Given the description of an element on the screen output the (x, y) to click on. 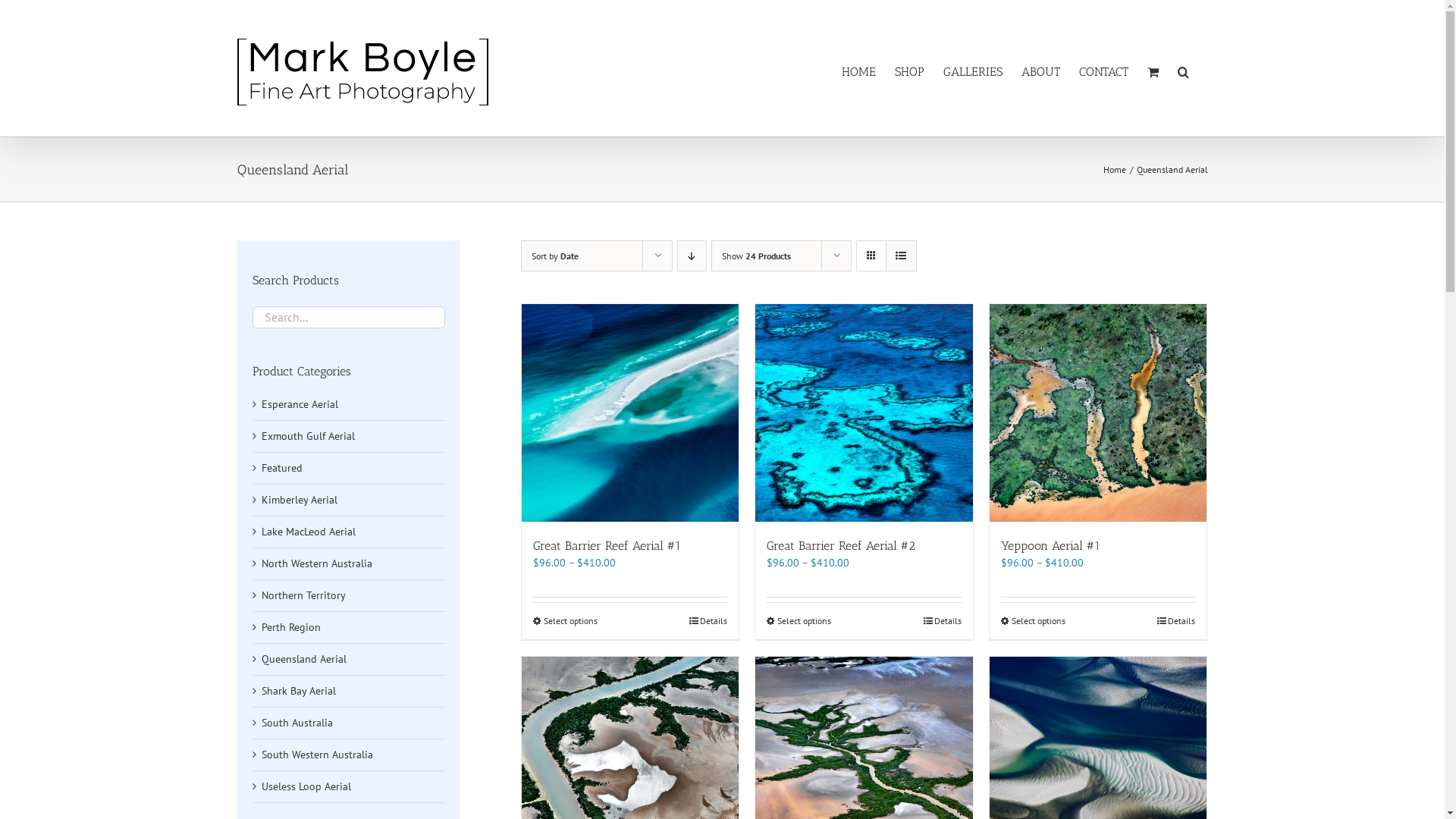
North Western Australia Element type: text (315, 563)
Details Element type: text (1176, 620)
GALLERIES Element type: text (972, 71)
Select options Element type: text (1033, 620)
ABOUT Element type: text (1039, 71)
Kimberley Aerial Element type: text (298, 499)
Select options Element type: text (565, 620)
Lake MacLeod Aerial Element type: text (307, 531)
Yeppoon Aerial #1 Element type: text (1050, 545)
Great Barrier Reef Aerial #1 Element type: text (606, 545)
Esperance Aerial Element type: text (298, 404)
South Australia Element type: text (296, 722)
Featured Element type: text (280, 467)
Select options Element type: text (798, 620)
Useless Loop Aerial Element type: text (305, 786)
HOME Element type: text (858, 71)
CONTACT Element type: text (1102, 71)
Northern Territory Element type: text (302, 595)
South Western Australia Element type: text (316, 754)
SHOP Element type: text (909, 71)
Home Element type: text (1113, 169)
Details Element type: text (942, 620)
Exmouth Gulf Aerial Element type: text (307, 435)
Show 24 Products Element type: text (755, 255)
Queensland Aerial Element type: text (302, 658)
Sort by Date Element type: text (554, 255)
Search Element type: hover (1182, 71)
Details Element type: text (708, 620)
Great Barrier Reef Aerial #2 Element type: text (840, 545)
Perth Region Element type: text (290, 626)
Shark Bay Aerial Element type: text (297, 690)
